Given the description of an element on the screen output the (x, y) to click on. 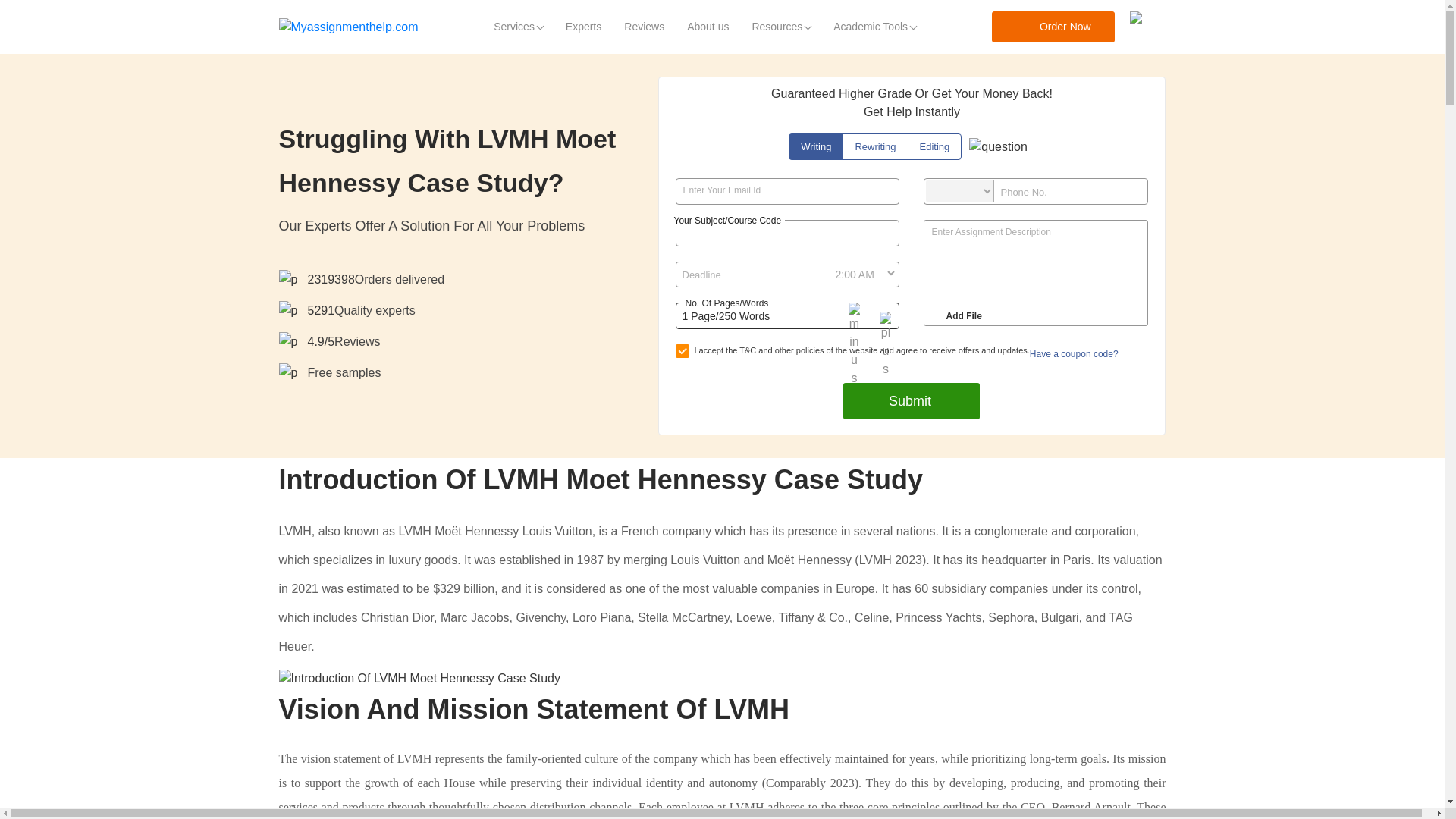
Experts (583, 26)
Resources (780, 26)
menu (1147, 26)
About us (707, 26)
Reviews (643, 26)
Services (517, 26)
Info (998, 147)
